Given the description of an element on the screen output the (x, y) to click on. 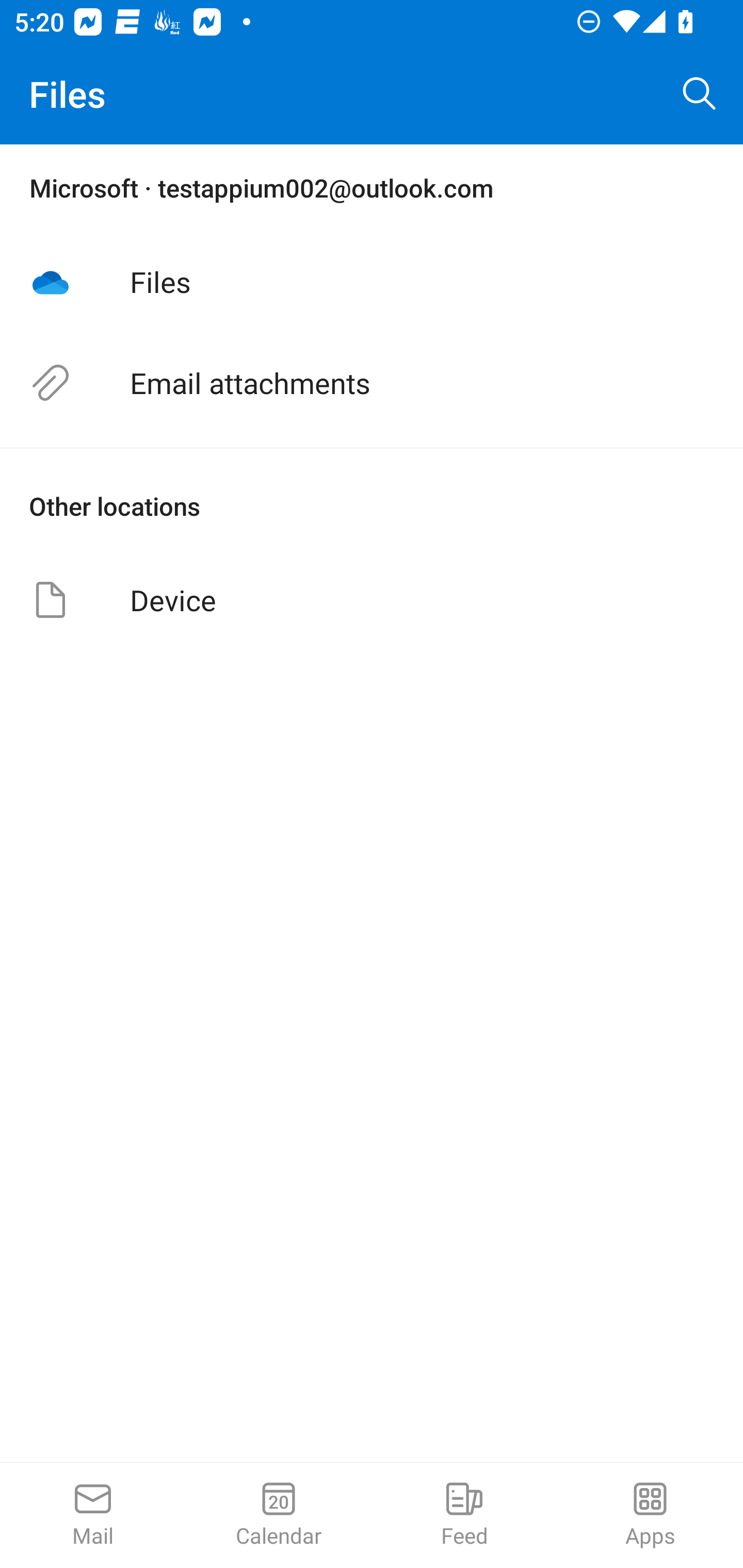
Search button (699, 93)
Files (371, 281)
Email attachments (371, 382)
Device (371, 599)
Mail (92, 1515)
Calendar (278, 1515)
Feed (464, 1515)
Apps (650, 1515)
